Given the description of an element on the screen output the (x, y) to click on. 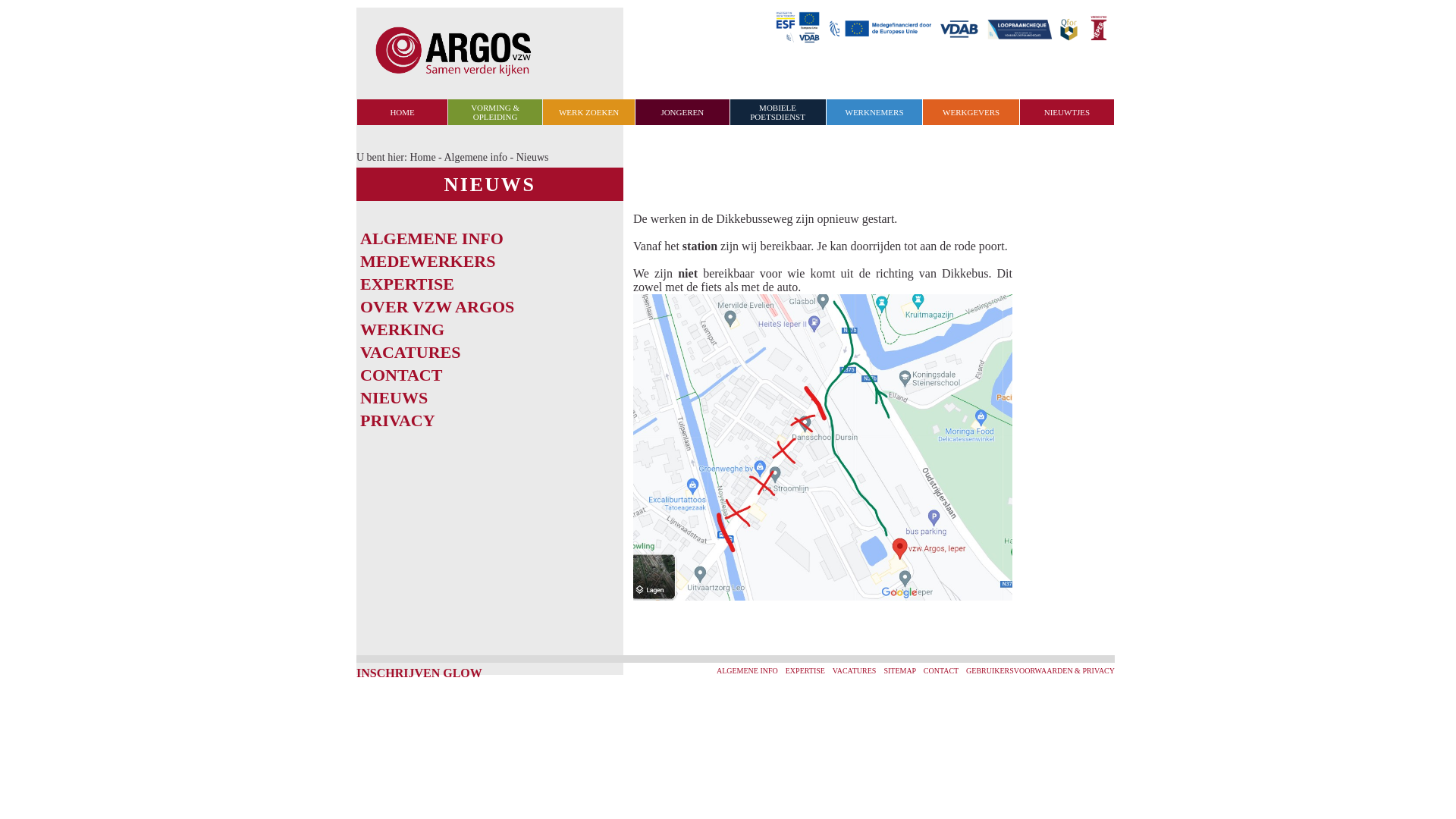
SITEMAP Element type: text (899, 670)
GEBRUIKERSVOORWAARDEN Element type: text (1019, 670)
EXPERTISE Element type: text (805, 670)
PRIVACY Element type: text (397, 420)
WERK ZOEKEN Element type: text (588, 111)
VORMING &
OPLEIDING Element type: text (494, 112)
PRIVACY Element type: text (1098, 670)
WERKNEMERS Element type: text (874, 111)
NIEUWS Element type: text (393, 397)
VACATURES Element type: text (410, 351)
CONTACT Element type: text (940, 670)
WERKGEVERS Element type: text (970, 111)
INSCHRIJVEN GLOW Element type: text (419, 672)
ALGEMENE INFO Element type: text (747, 670)
MOBIELE POETSDIENST Element type: text (777, 112)
OVER VZW ARGOS Element type: text (437, 306)
HOME Element type: text (401, 111)
CONTACT Element type: text (401, 374)
WERKING Element type: text (402, 329)
NIEUWTJES Element type: text (1067, 111)
JONGEREN Element type: text (681, 111)
EXPERTISE Element type: text (407, 283)
VACATURES Element type: text (854, 670)
MEDEWERKERS Element type: text (427, 260)
ALGEMENE INFO Element type: text (431, 238)
Algemene info Element type: text (475, 157)
Home Element type: text (422, 157)
